Given the description of an element on the screen output the (x, y) to click on. 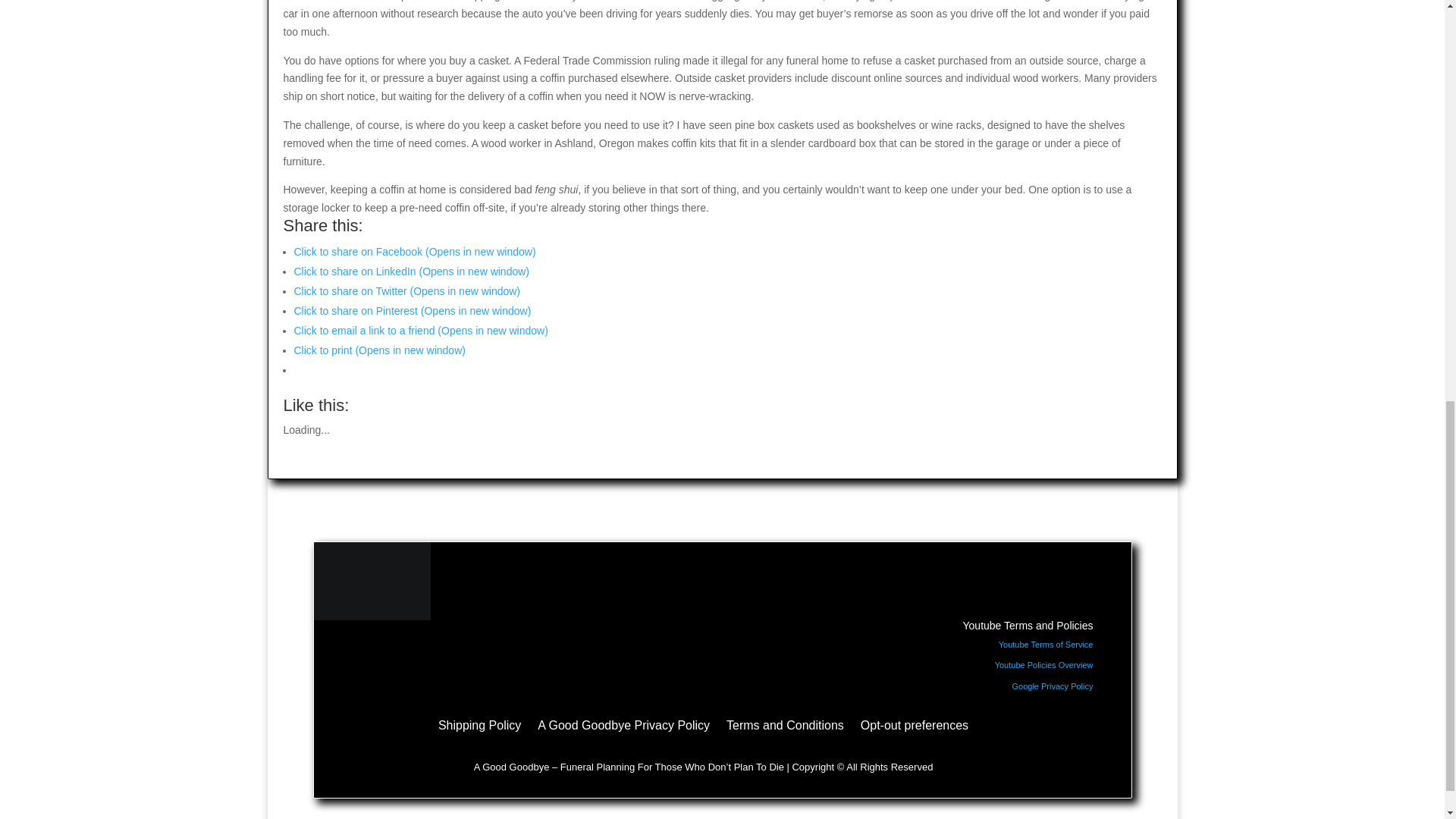
Click to email a link to a friend (421, 330)
Click to print (379, 349)
Click to share on Facebook (414, 251)
Click to share on LinkedIn (411, 271)
Click to share on Pinterest (412, 310)
Click to share on Twitter (407, 291)
